Given the description of an element on the screen output the (x, y) to click on. 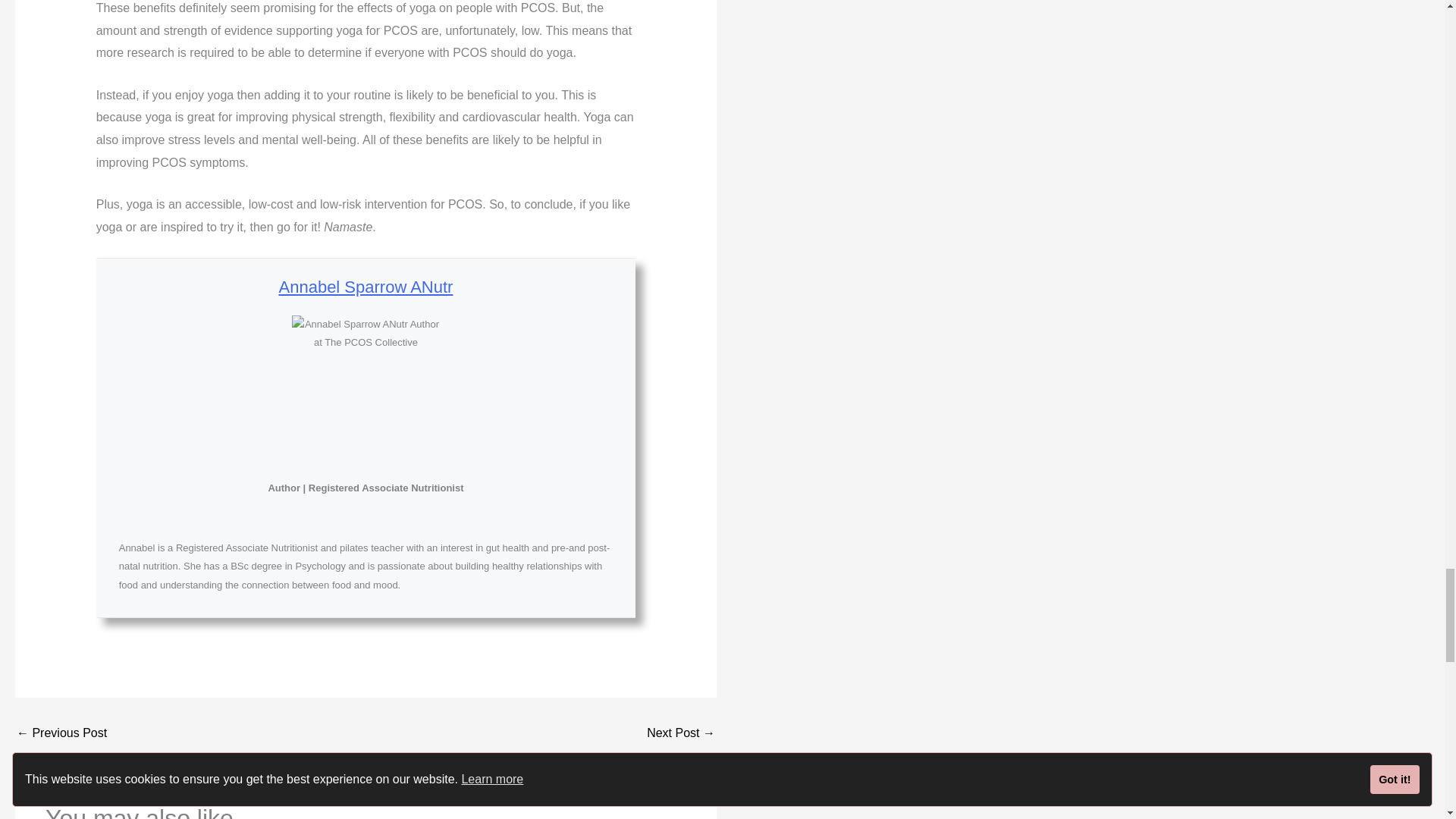
PCOS and magnesium: benefits, dosage and side effects (61, 733)
